Given the description of an element on the screen output the (x, y) to click on. 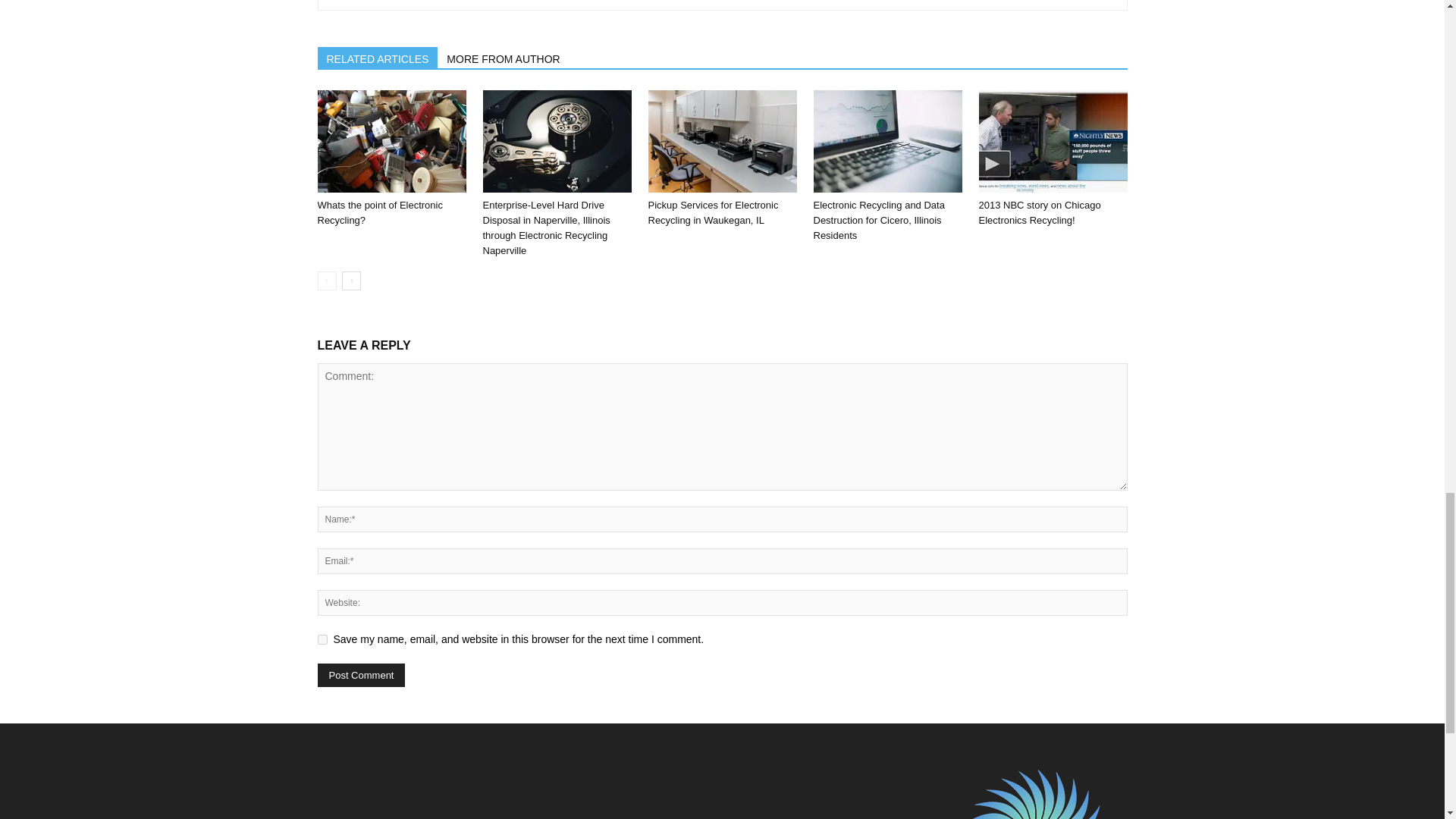
yes (321, 639)
Post Comment (360, 675)
